Given the description of an element on the screen output the (x, y) to click on. 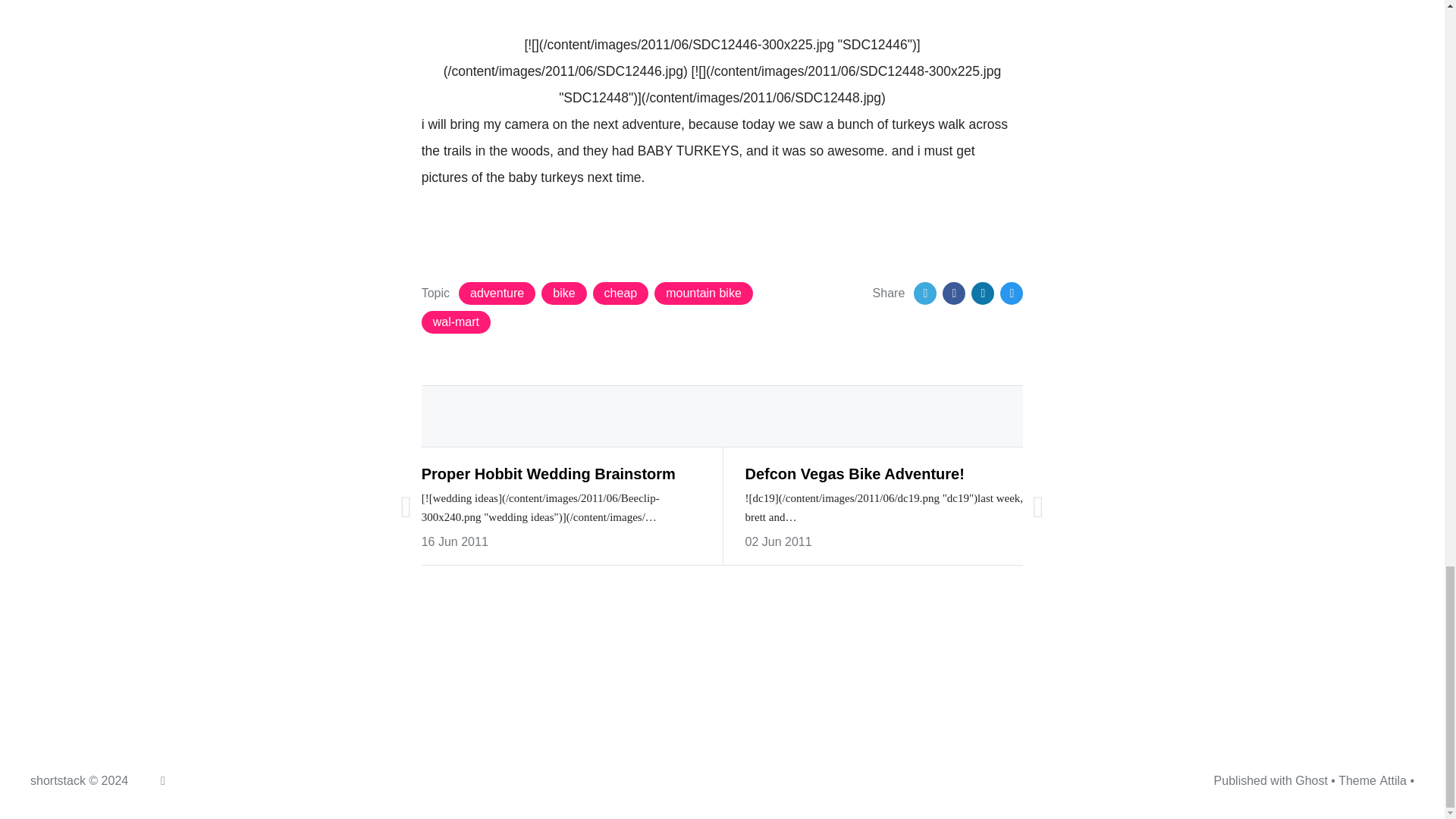
LinkedIn (982, 292)
bike (563, 292)
Ghost (1311, 780)
Twitter (925, 292)
mountain bike (702, 292)
Facebook (953, 292)
cheap (620, 292)
wal-mart (456, 322)
adventure (496, 292)
RSS (162, 780)
